Given the description of an element on the screen output the (x, y) to click on. 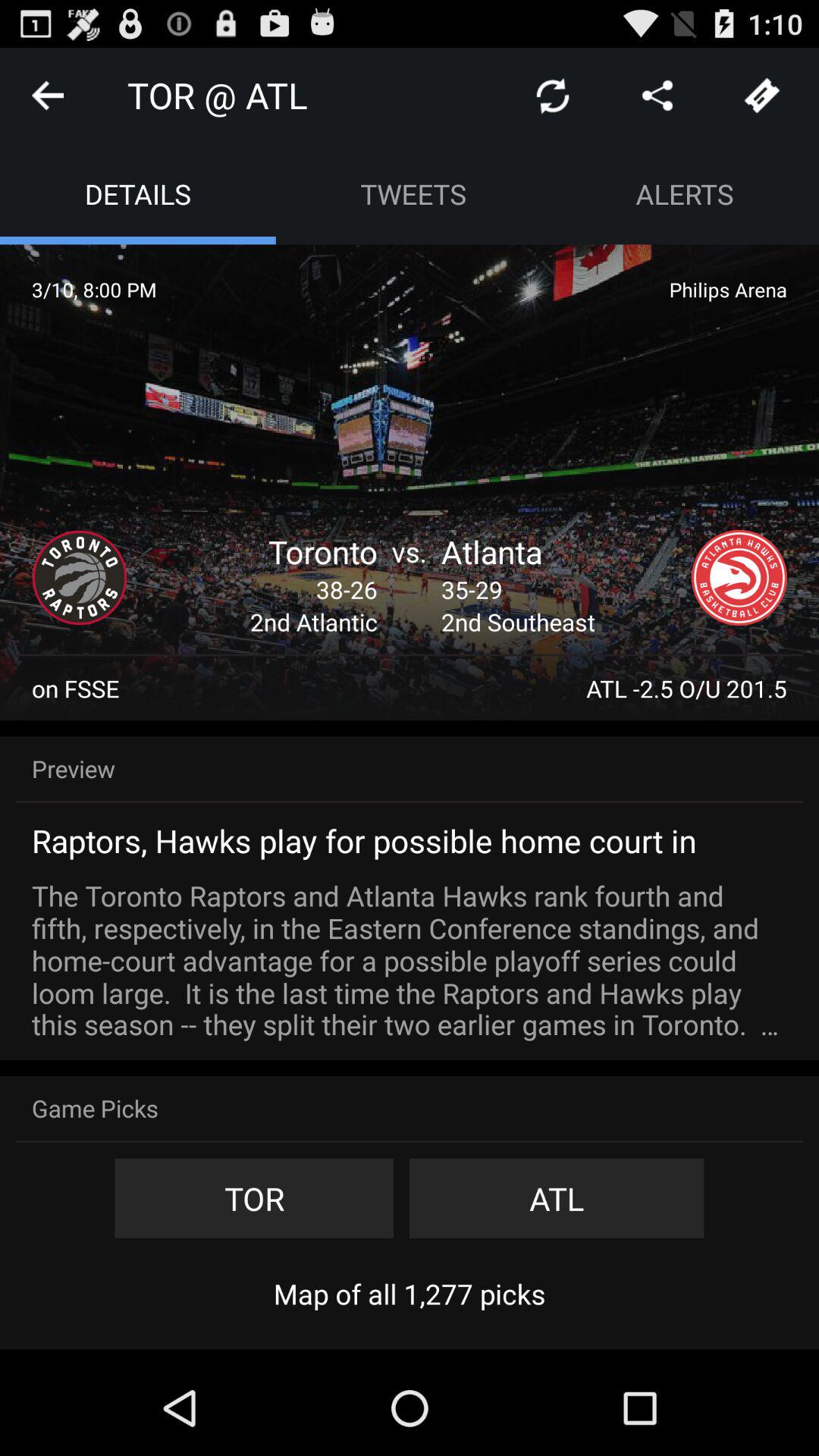
click alerts (685, 193)
